Given the description of an element on the screen output the (x, y) to click on. 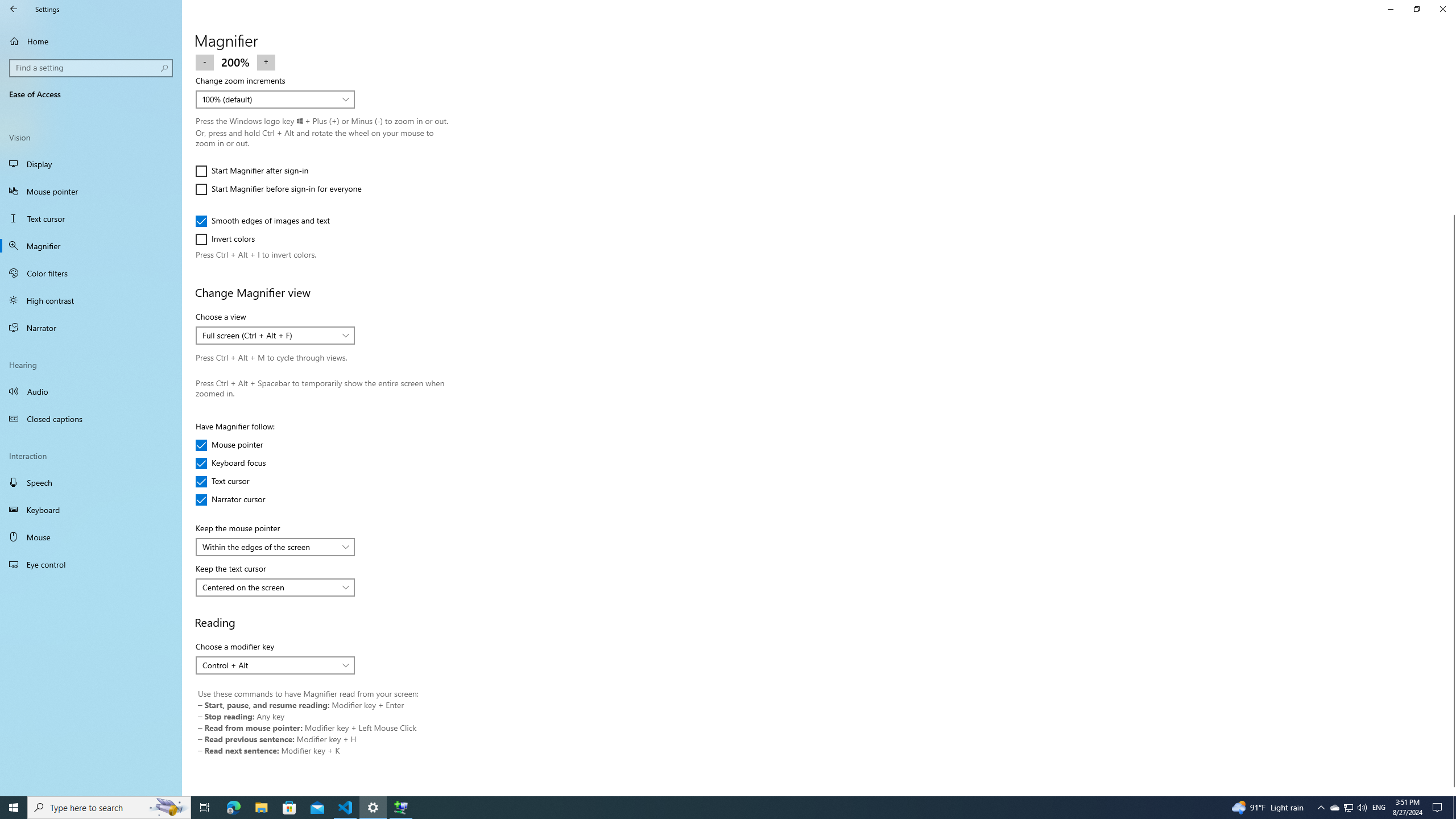
High contrast (91, 299)
Choose a view (275, 335)
Keep the text cursor (275, 587)
Vertical (1451, 425)
Start Magnifier before sign-in for everyone (278, 189)
Invert colors (229, 239)
Smooth edges of images and text (262, 221)
Extensible Wizards Host Process - 1 running window (400, 807)
